Given the description of an element on the screen output the (x, y) to click on. 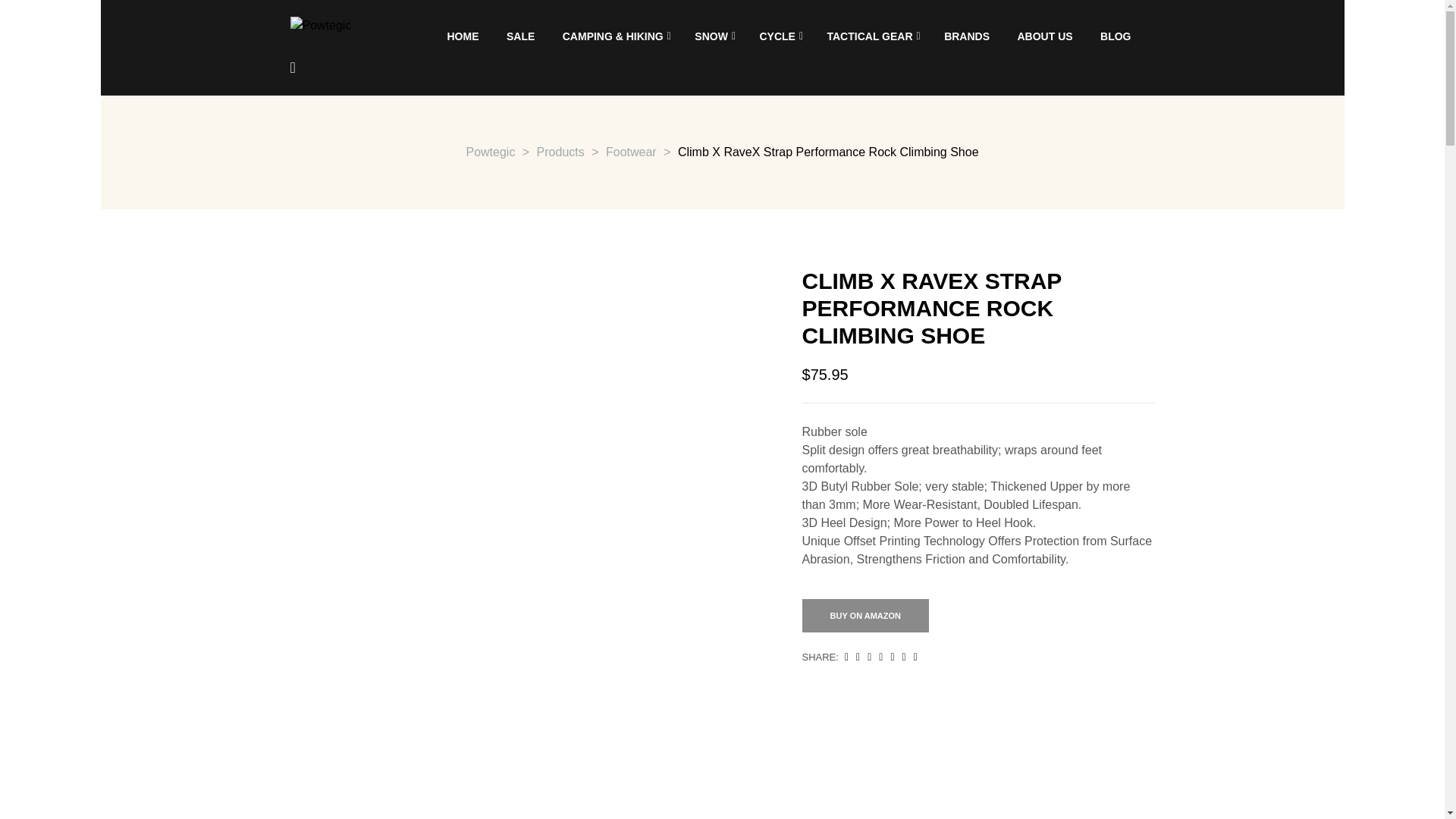
SNOW (713, 36)
Go to Products. (561, 151)
HOME (463, 36)
Go to the Footwear Category archives. (630, 151)
Go to Powtegic. (490, 151)
SALE (521, 36)
